Given the description of an element on the screen output the (x, y) to click on. 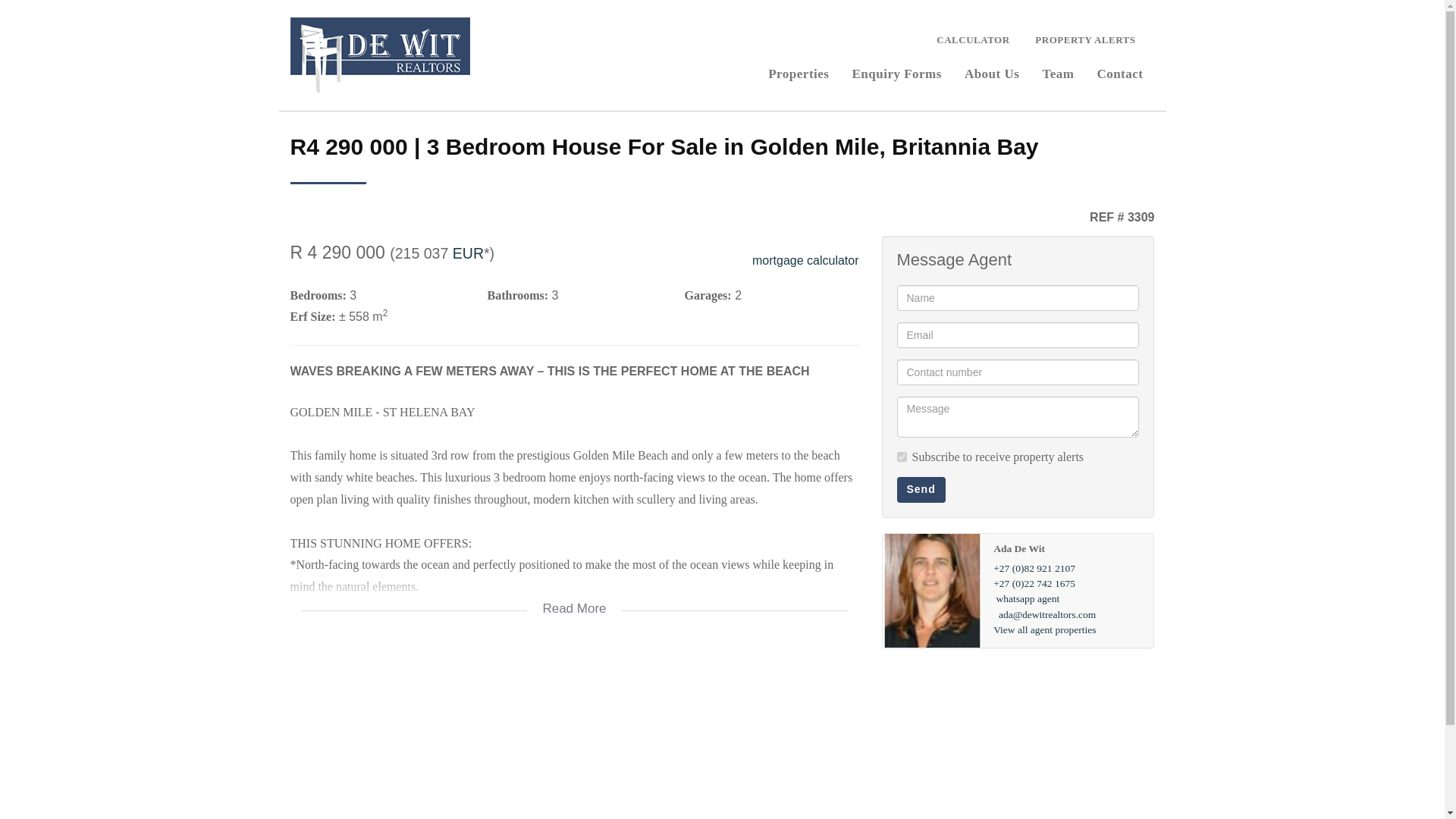
Properties (798, 72)
on (900, 456)
Read More (574, 599)
De Wit Realtors, Estate Agency Logo (378, 55)
google map (574, 733)
